Given the description of an element on the screen output the (x, y) to click on. 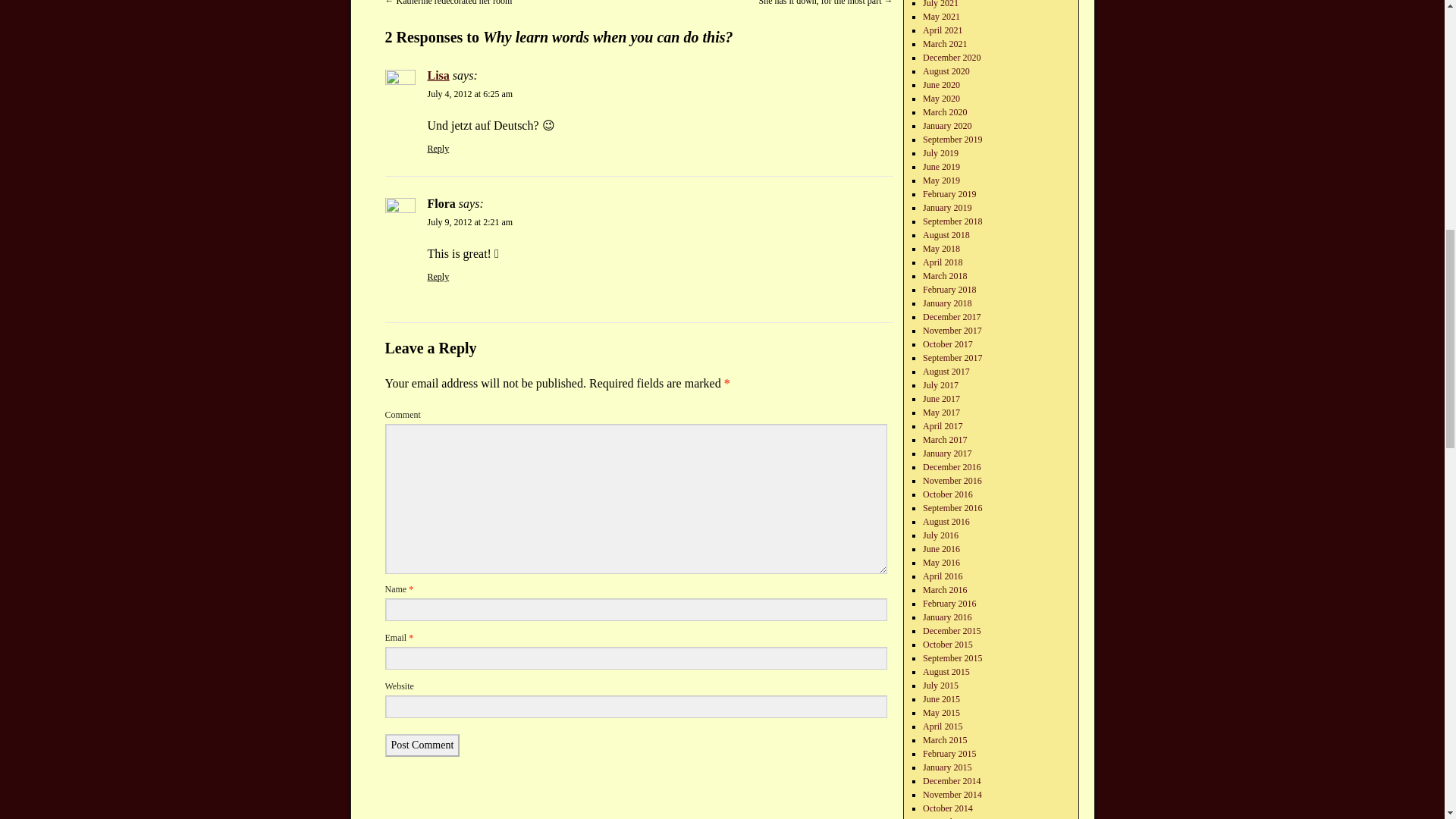
Lisa (438, 74)
April 2021 (942, 30)
Post Comment (422, 744)
Post Comment (422, 744)
Reply (438, 276)
May 2021 (941, 16)
Reply (438, 148)
July 2021 (940, 4)
July 9, 2012 at 2:21 am (470, 222)
March 2021 (944, 43)
